Given the description of an element on the screen output the (x, y) to click on. 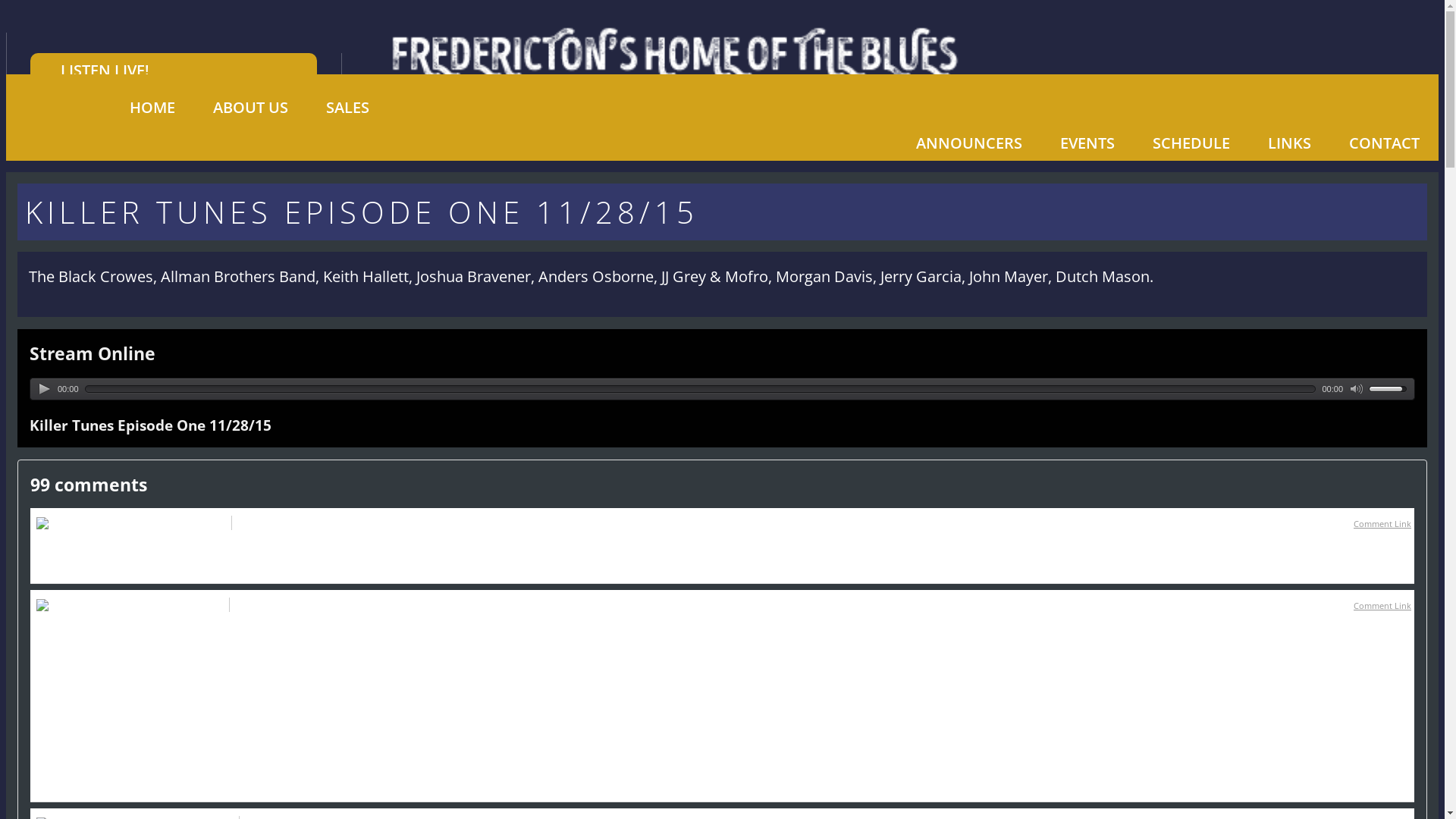
HOME Element type: text (152, 107)
ANNOUNCERS Element type: text (969, 142)
Comment Link Element type: text (1382, 523)
  Element type: text (44, 388)
CONTACT Element type: text (1384, 142)
EVENTS Element type: text (1087, 142)
LINKS Element type: text (1289, 142)
Comment Link Element type: text (1382, 605)
LISTEN LIVE! Element type: text (173, 71)
SALES Element type: text (347, 107)
  Element type: text (1356, 388)
http://globalpharmacyrx24.com Element type: text (189, 547)
SCHEDULE Element type: text (1190, 142)
ABOUT US Element type: text (250, 107)
